Given the description of an element on the screen output the (x, y) to click on. 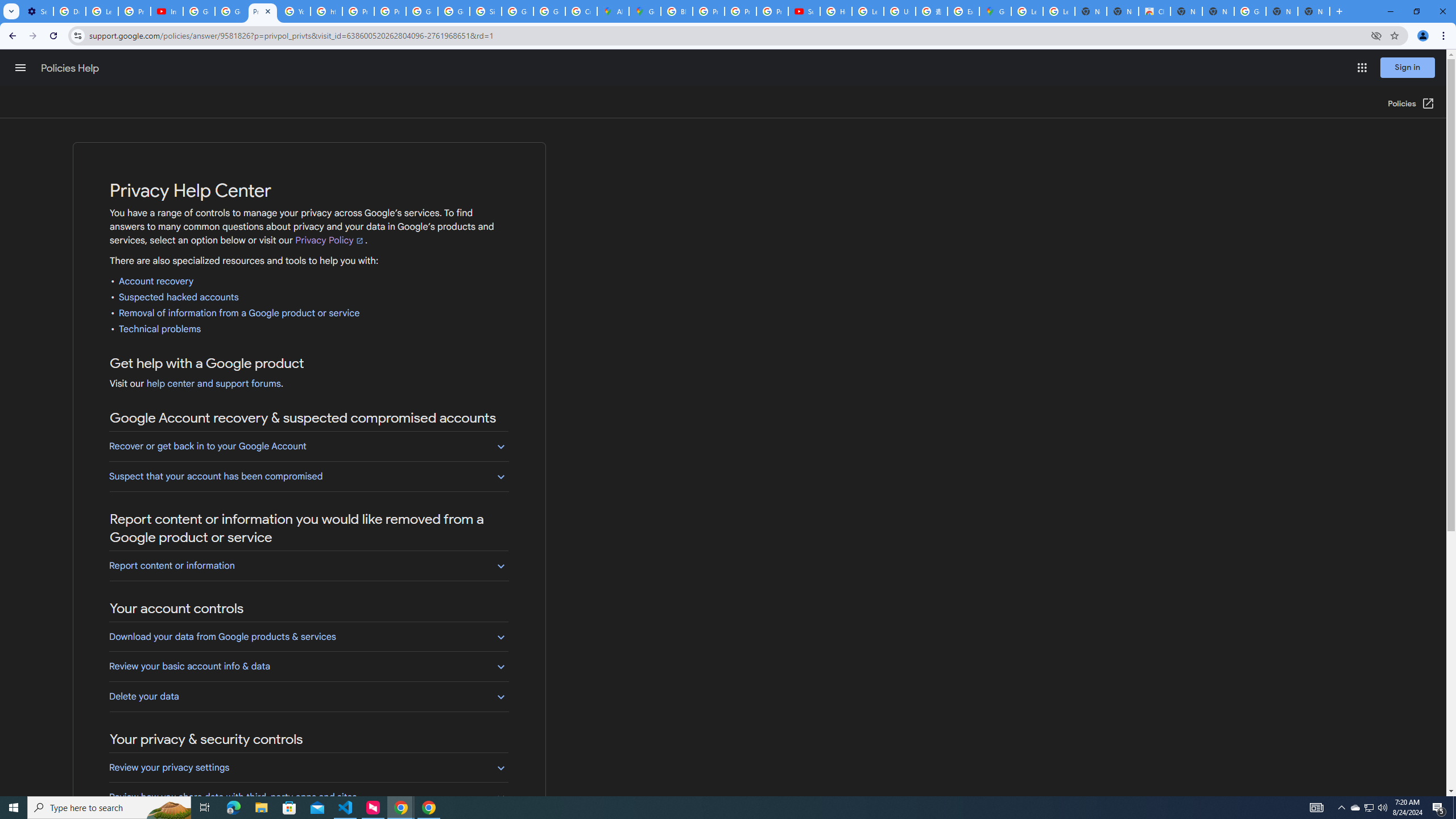
Technical problems (159, 328)
Privacy Help Center - Policies Help (358, 11)
New Tab (1313, 11)
Explore new street-level details - Google Maps Help (963, 11)
Review your basic account info & data (308, 666)
Subscriptions - YouTube (804, 11)
Recover or get back in to your Google Account (308, 445)
Sign in - Google Accounts (485, 11)
Create your Google Account (581, 11)
